Given the description of an element on the screen output the (x, y) to click on. 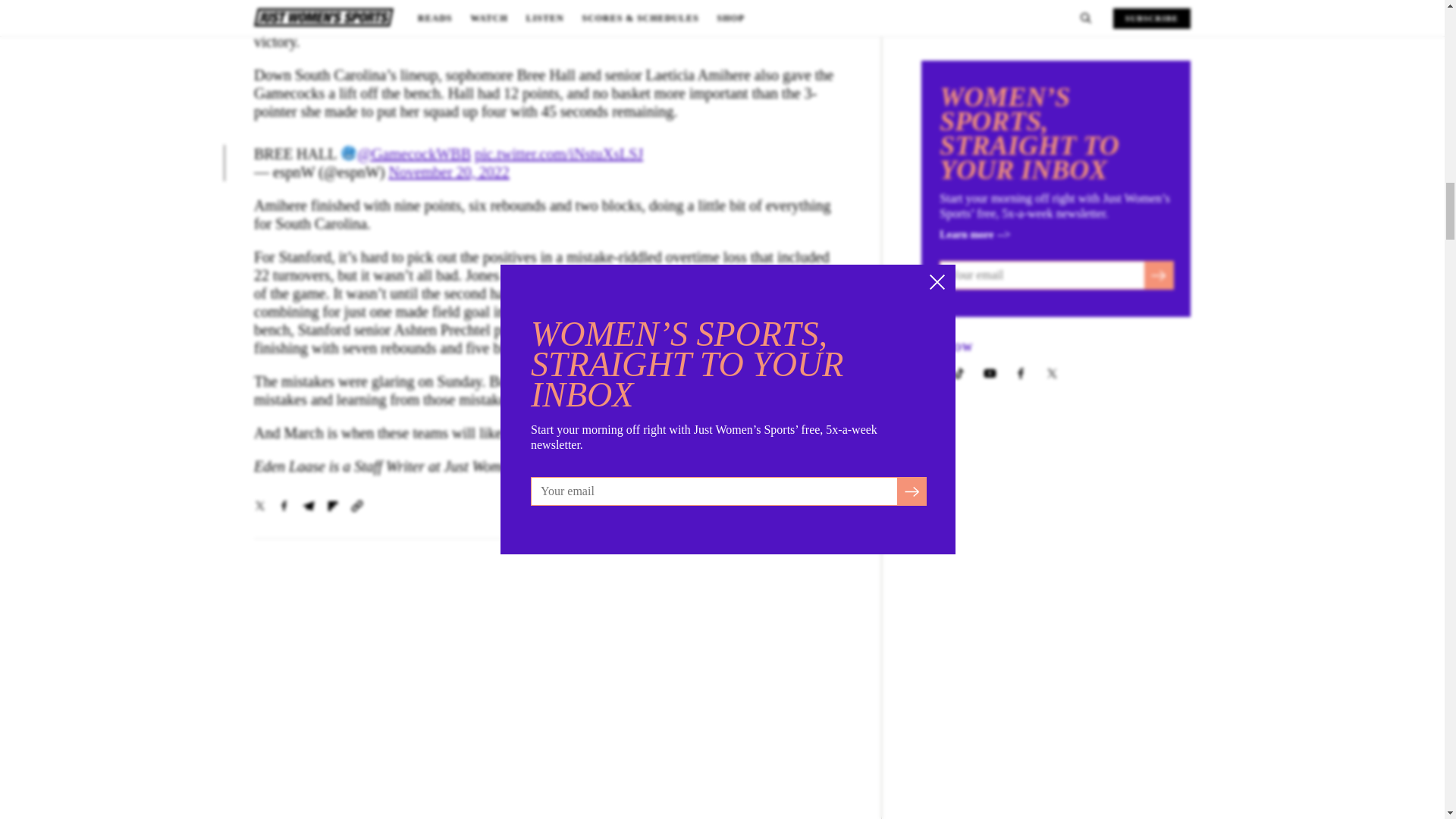
November 20, 2022 (448, 171)
